Given the description of an element on the screen output the (x, y) to click on. 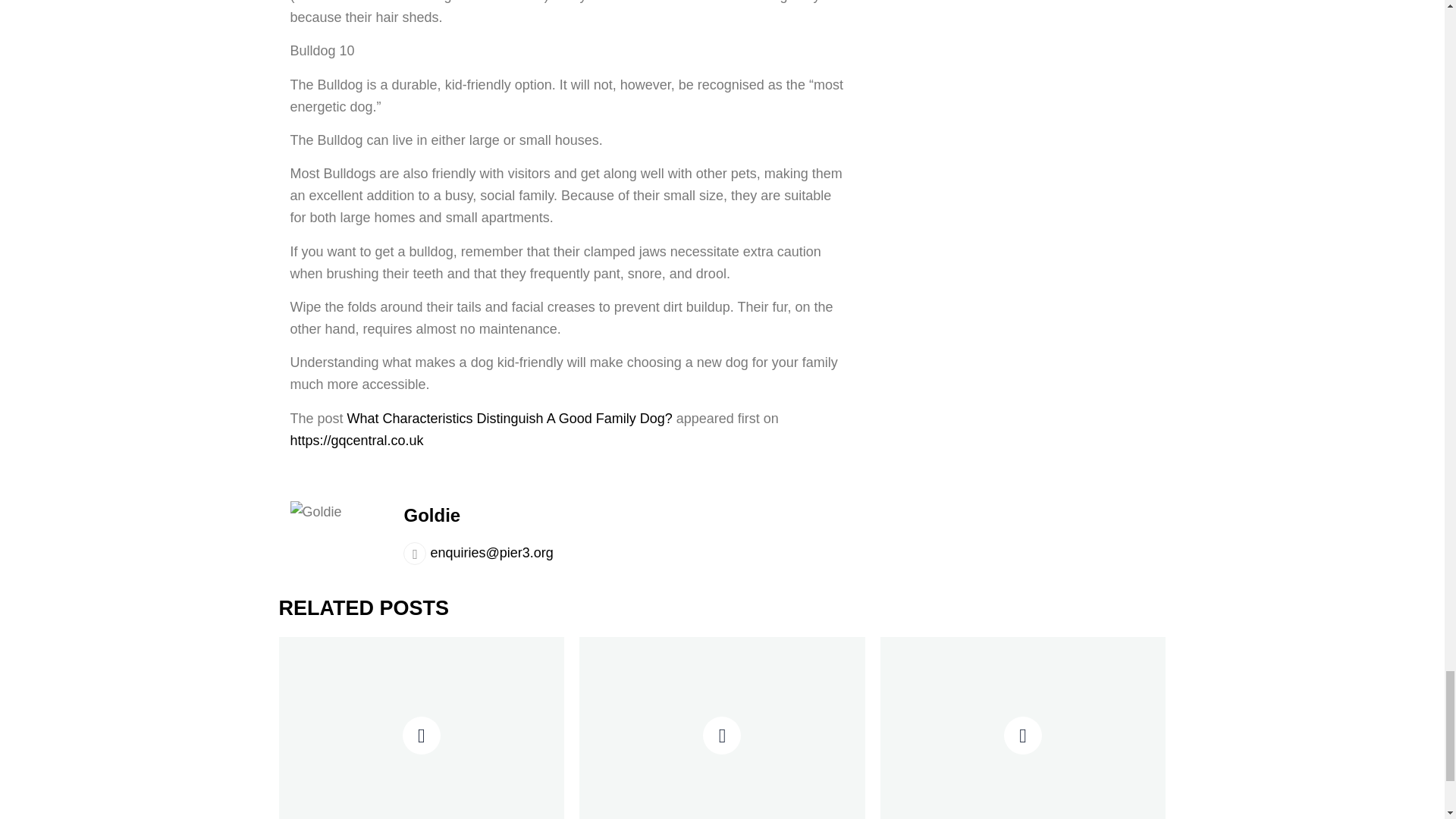
What Characteristics Distinguish A Good Family Dog? (509, 418)
Goldie (431, 515)
